Given the description of an element on the screen output the (x, y) to click on. 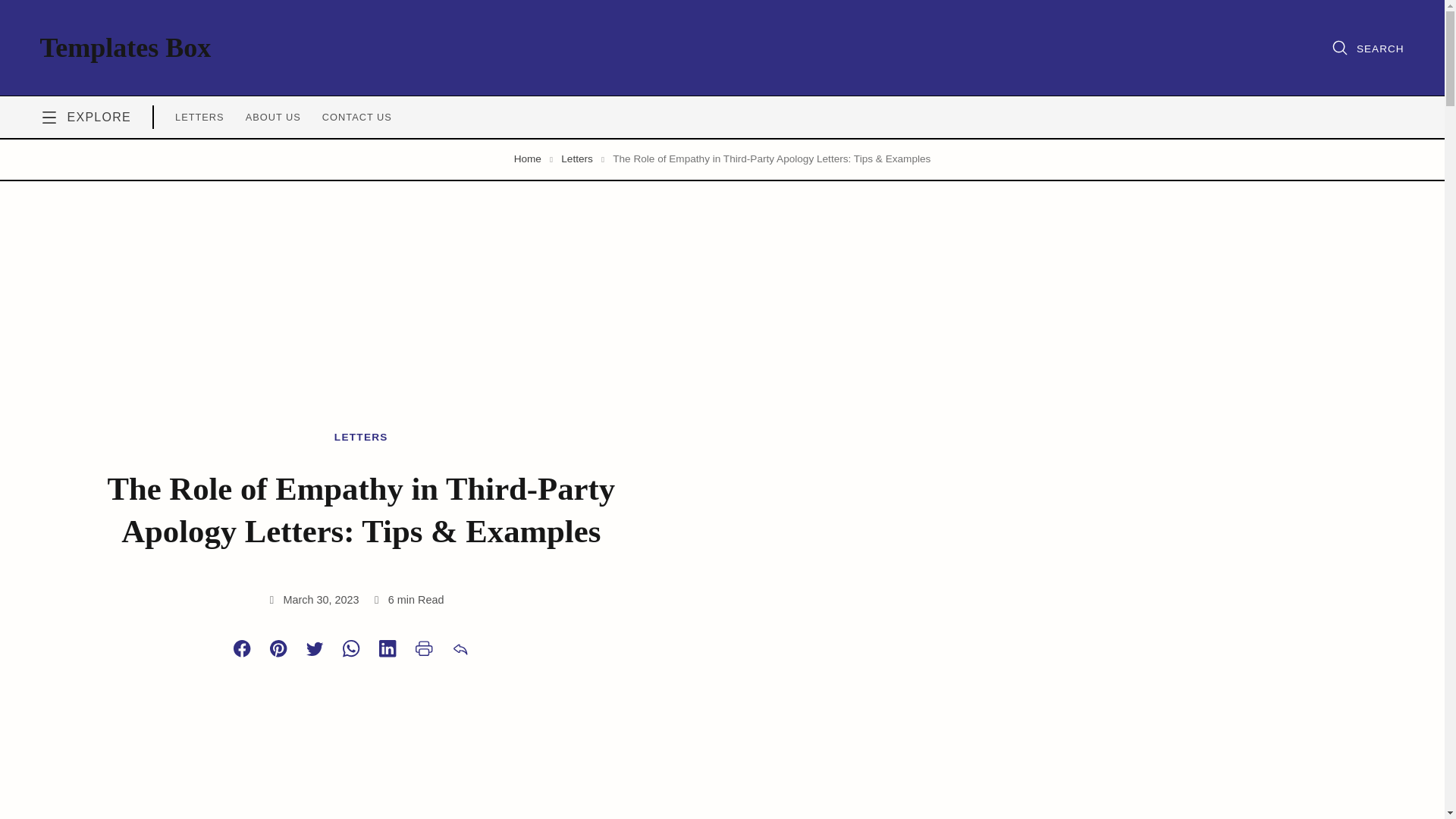
Home (527, 158)
LETTERS (360, 437)
CONTACT US (356, 116)
EXPLORE (85, 117)
LETTERS (199, 116)
ABOUT US (273, 116)
Templates Box (125, 47)
Letters (576, 158)
